Given the description of an element on the screen output the (x, y) to click on. 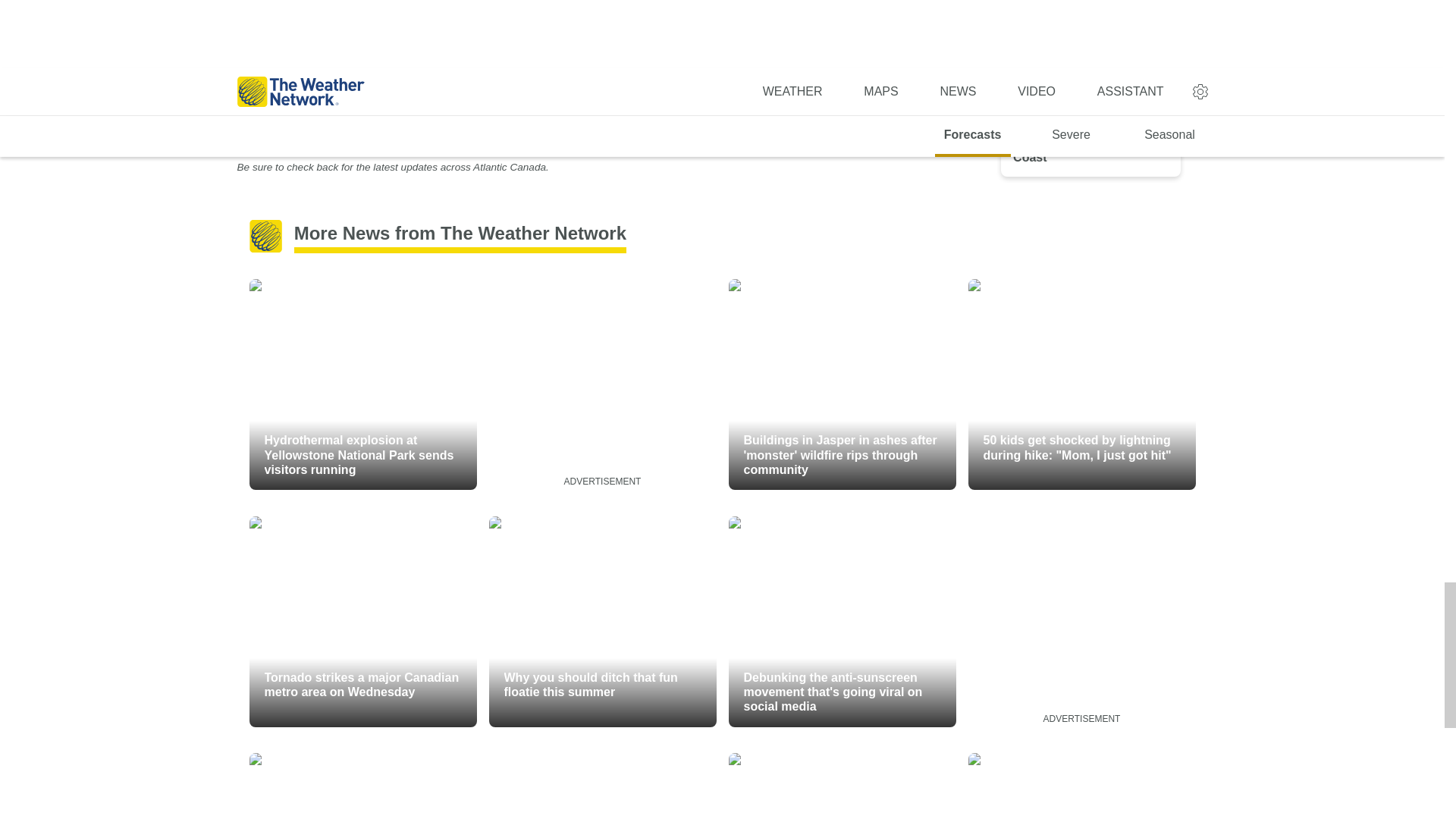
Why you should ditch that fun floatie this summer (601, 621)
Lunch-stealing bear in Whistler gives tourists a surprise (362, 785)
Tornado strikes a major Canadian metro area on Wednesday (362, 621)
New microcontinent discovered between Greenland and Canada (1081, 785)
Sudden storm leaves window washers dangling from skyscraper (841, 785)
